Given the description of an element on the screen output the (x, y) to click on. 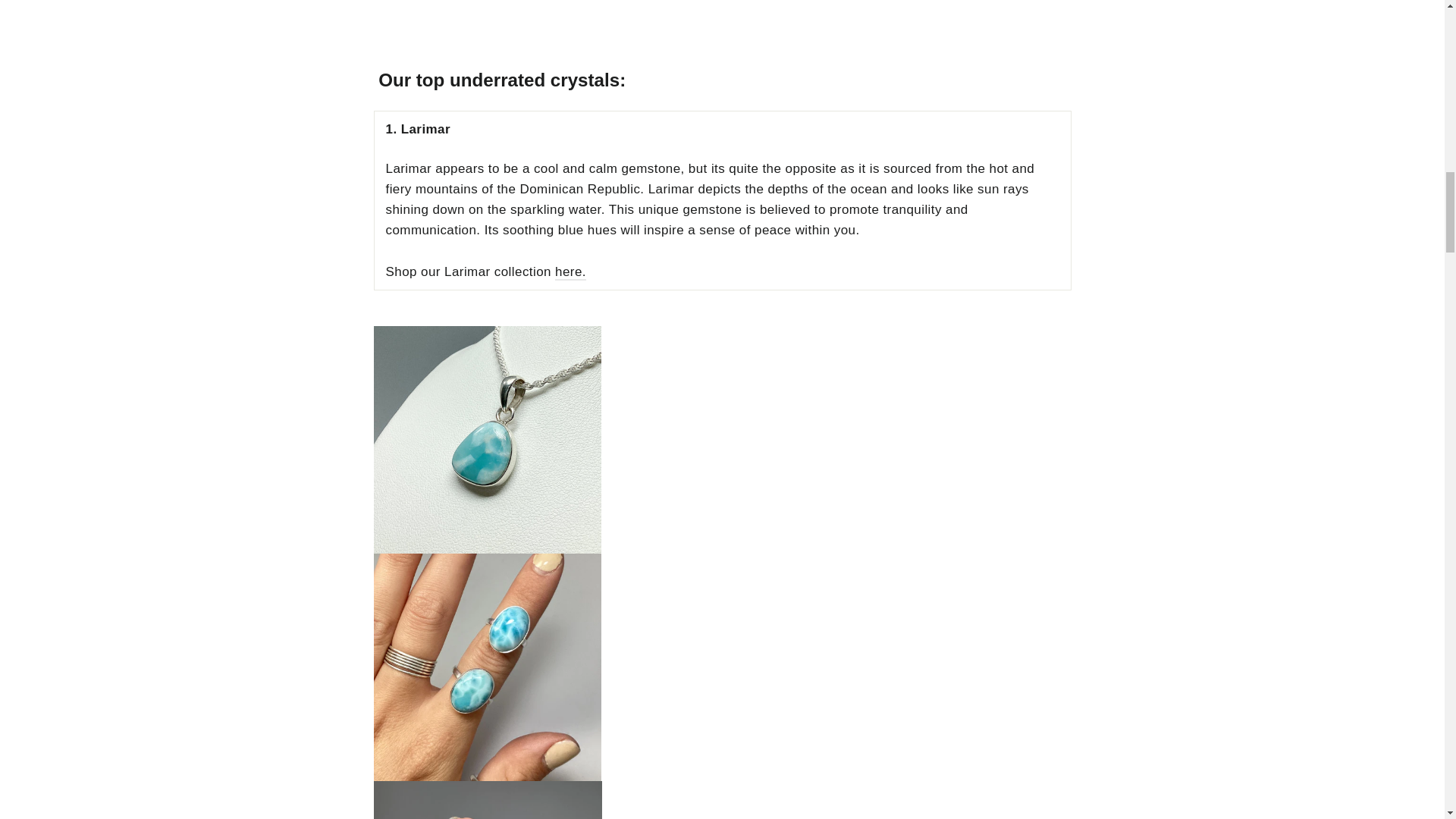
Larimar Collection (570, 272)
